Given the description of an element on the screen output the (x, y) to click on. 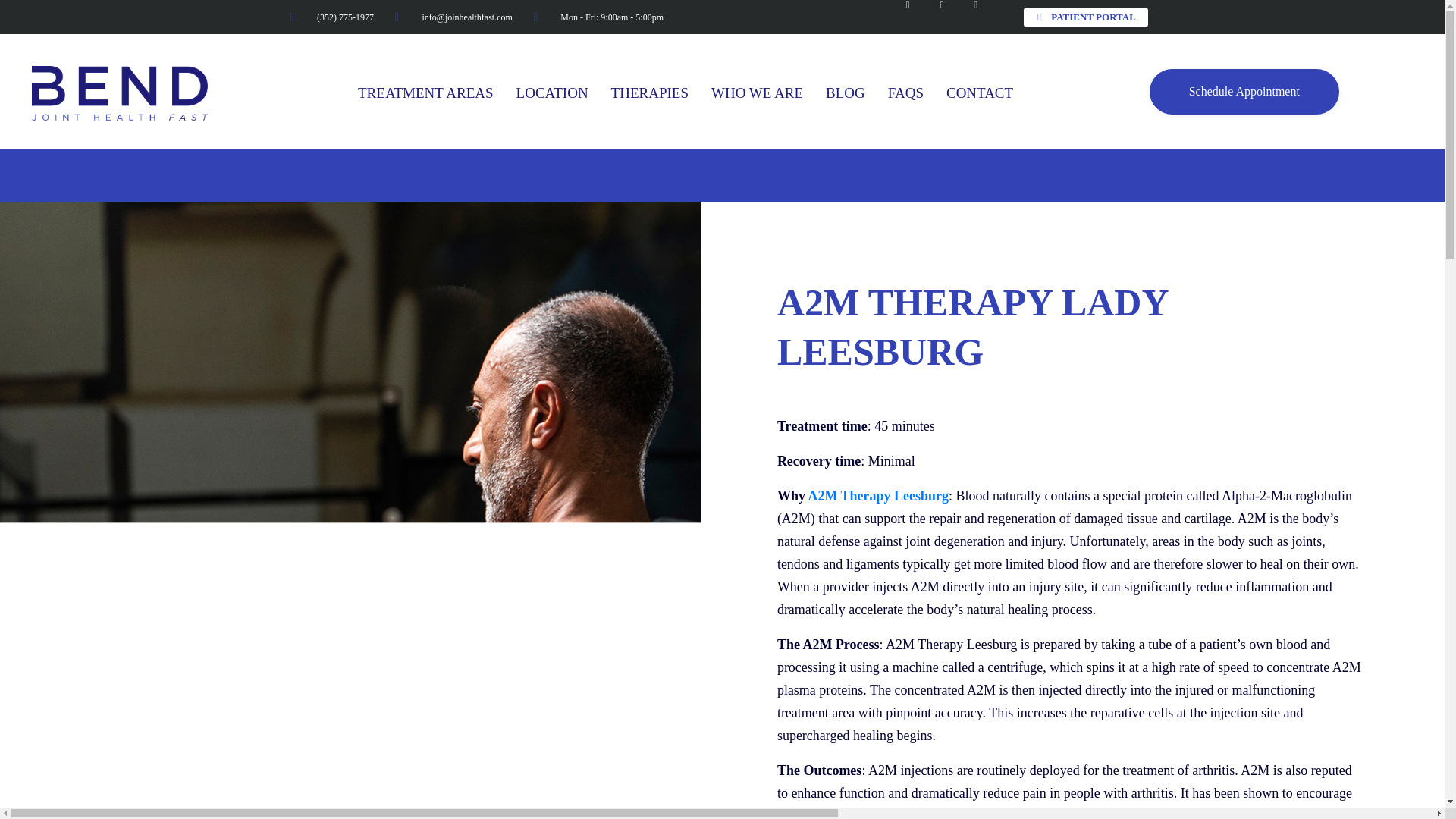
FAQS (905, 93)
CONTACT (979, 93)
PATIENT PORTAL (1085, 17)
BLOG (844, 93)
THERAPIES (649, 93)
TREATMENT AREAS (425, 93)
LOCATION (552, 93)
WHO WE ARE (757, 93)
A2M Therapy Leesburg (878, 495)
